Given the description of an element on the screen output the (x, y) to click on. 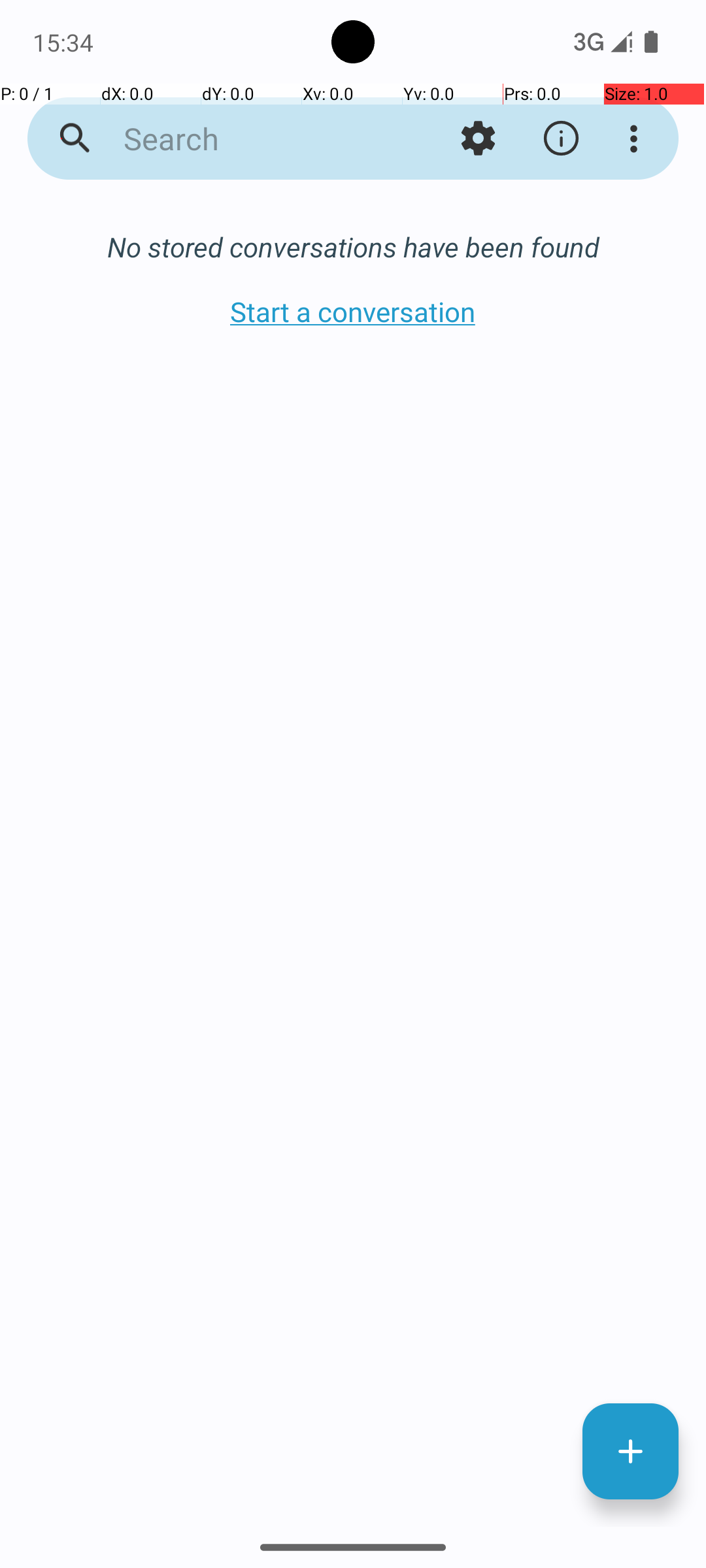
No stored conversations have been found Element type: android.widget.TextView (353, 246)
Start a conversation Element type: android.widget.TextView (352, 311)
